Given the description of an element on the screen output the (x, y) to click on. 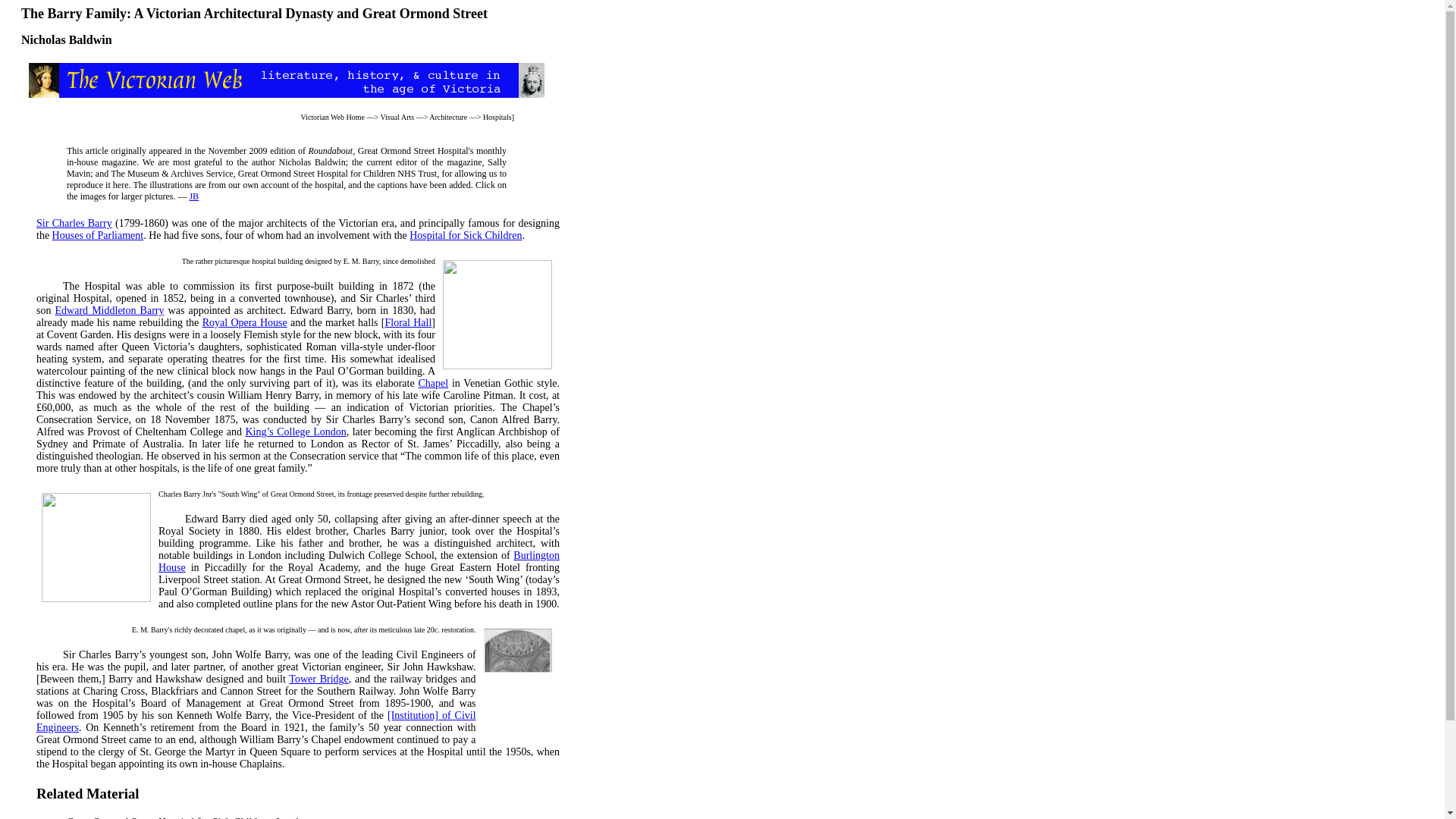
Burlington House (358, 561)
Chapel (432, 383)
Hospital for Sick Children (465, 235)
Tower Bridge (317, 678)
Floral Hall (407, 322)
Houses of Parliament (98, 235)
JB (193, 195)
Sir Charles Barry (74, 223)
Victorian Web Home (332, 117)
Hospitals (497, 117)
